Given the description of an element on the screen output the (x, y) to click on. 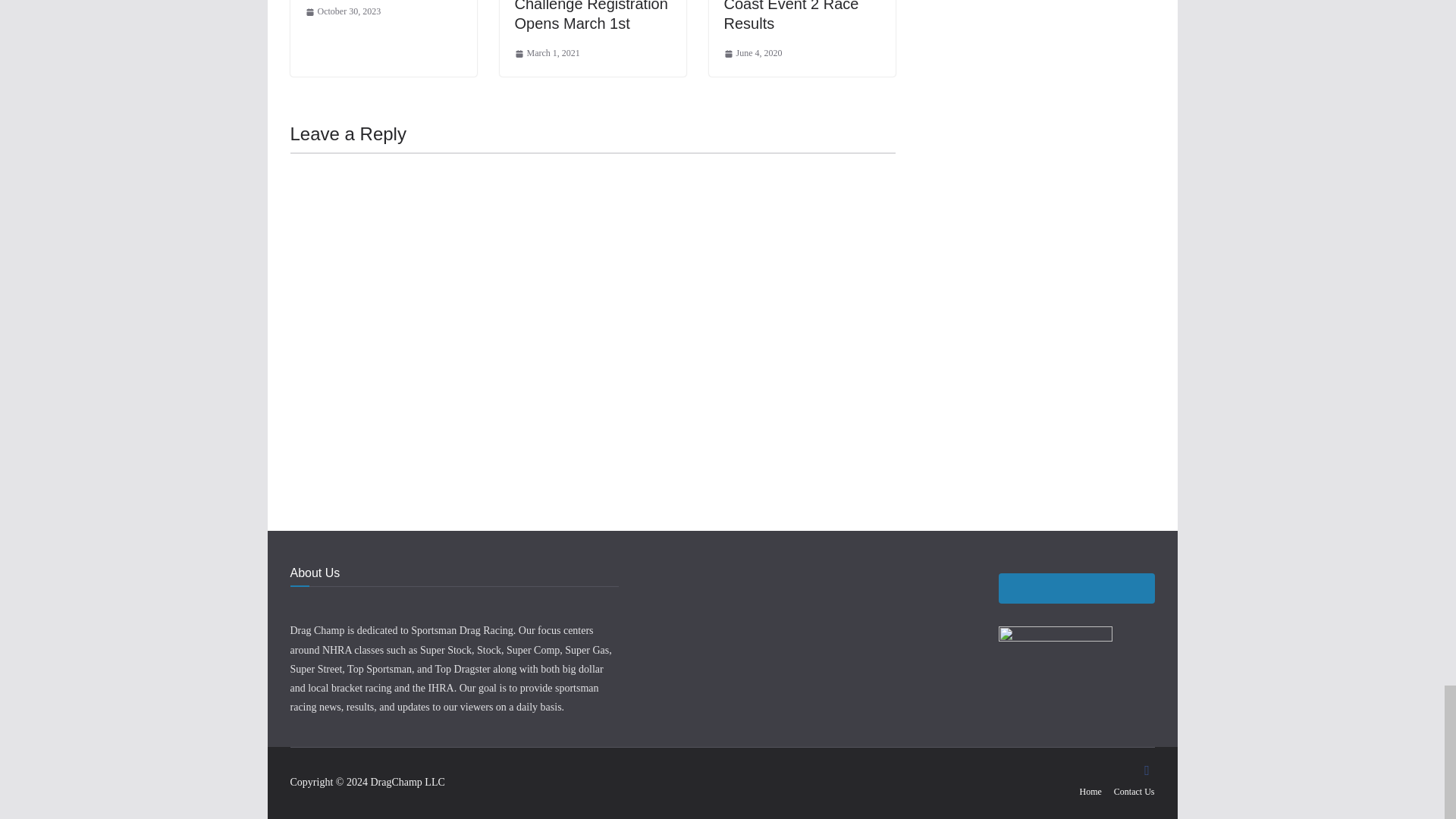
GABR Dream Team Challenge Registration Opens March 1st (589, 15)
11:47 am (546, 53)
1:27 am (752, 53)
2020 BTE King of the Coast Event 2 Race Results (795, 15)
October 30, 2023 (342, 12)
5:07 pm (342, 12)
